Given the description of an element on the screen output the (x, y) to click on. 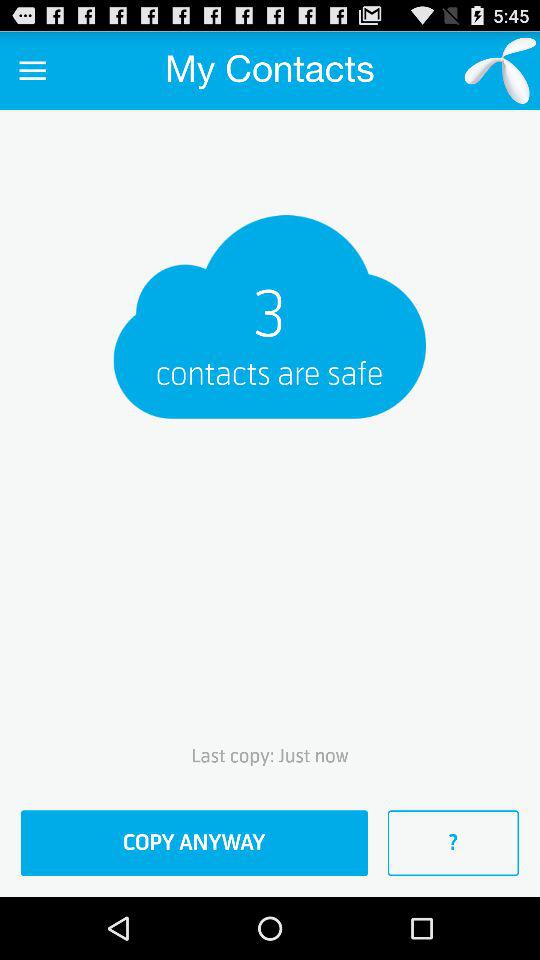
scroll to copy anyway item (194, 843)
